Given the description of an element on the screen output the (x, y) to click on. 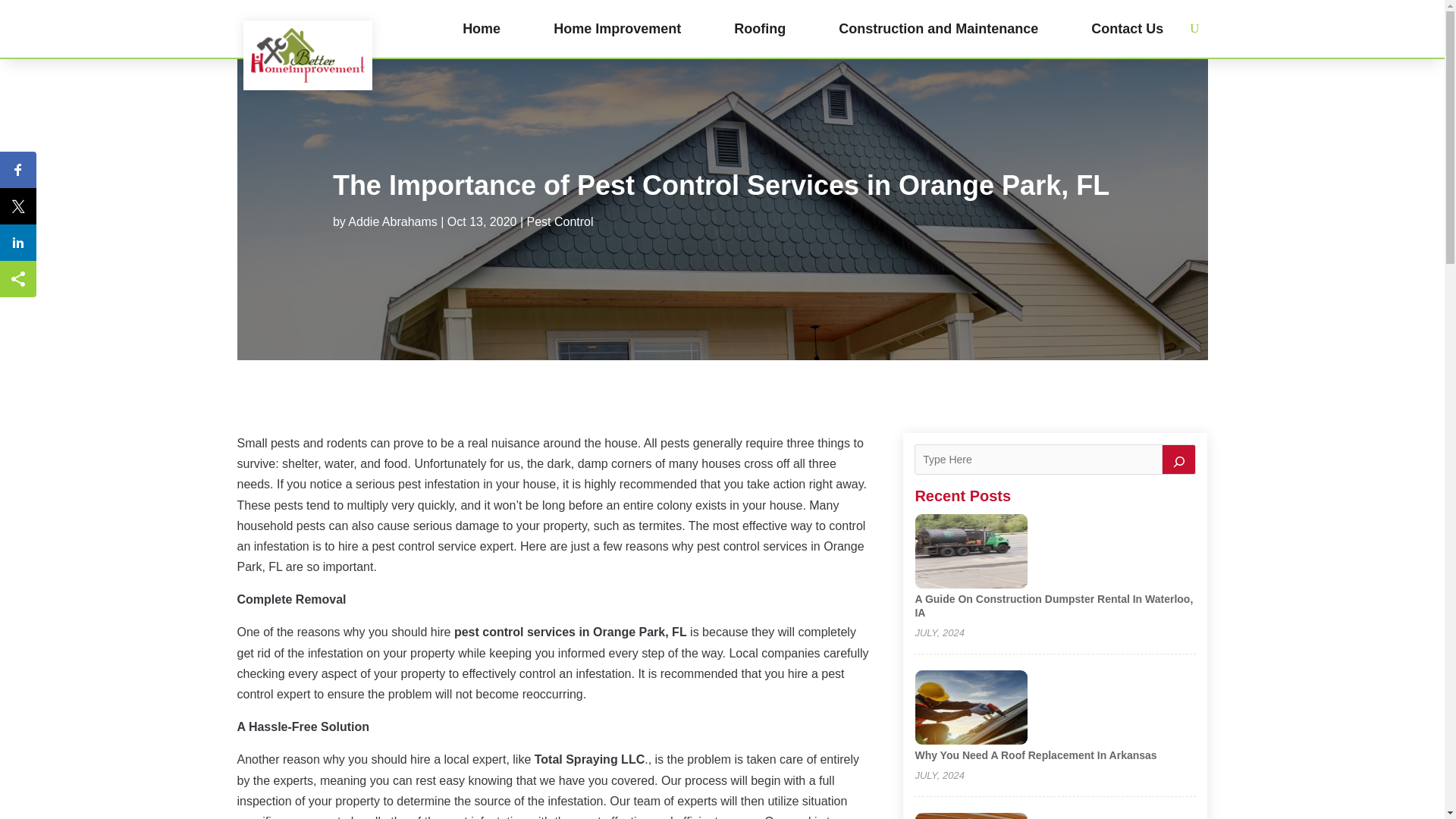
Roofing (759, 28)
Addie Abrahams (391, 221)
Contact Us (1126, 28)
Home Improvement (617, 28)
A Guide On Construction Dumpster Rental In Waterloo, IA (1053, 605)
Construction and Maintenance (938, 28)
Posts by Addie Abrahams (391, 221)
Pest Control (558, 221)
Why You Need A Roof Replacement In Arkansas (1035, 755)
